Given the description of an element on the screen output the (x, y) to click on. 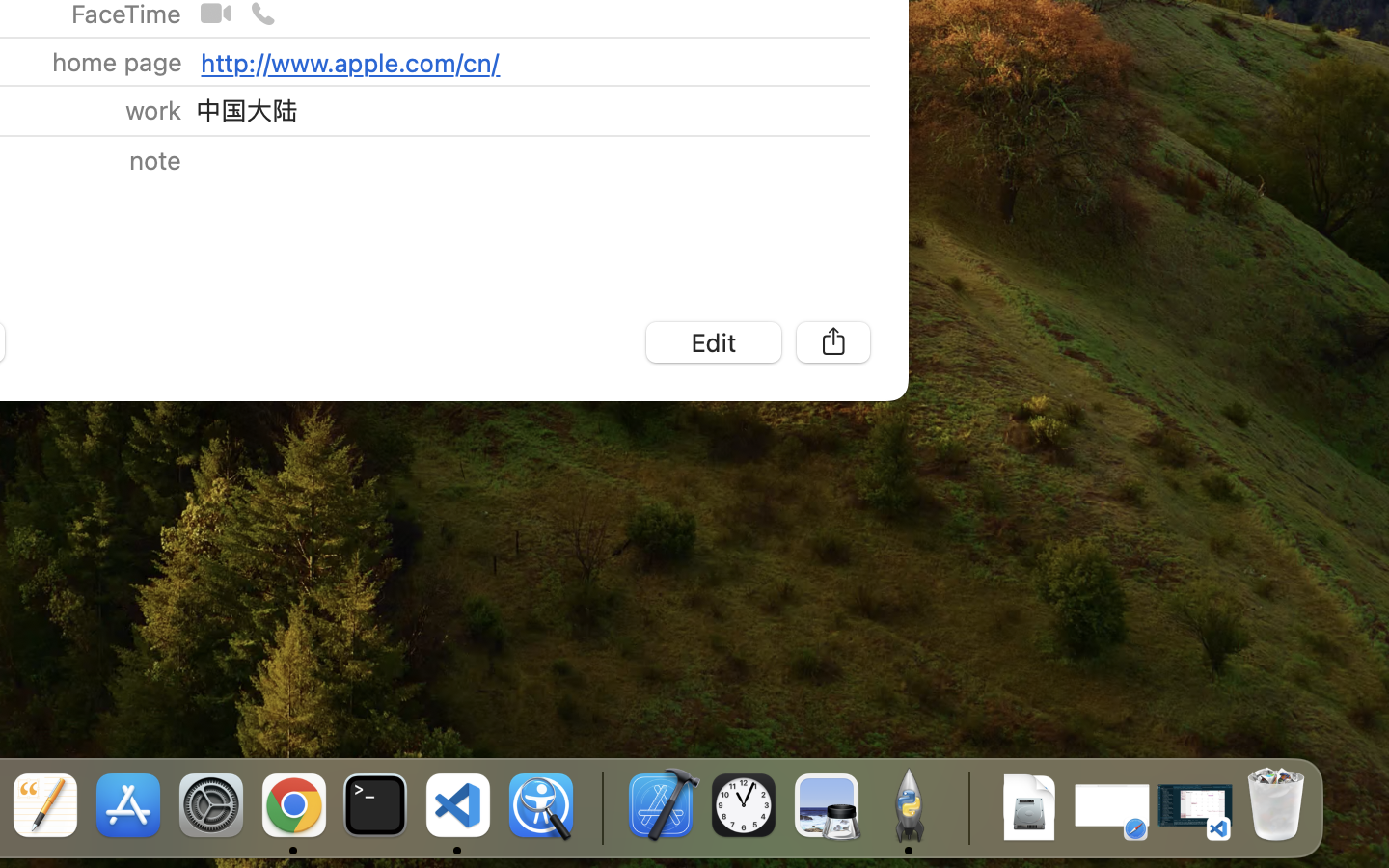
note Element type: AXStaticText (155, 159)
中国大陆 Element type: AXStaticText (245, 109)
home page Element type: AXStaticText (116, 61)
